Given the description of an element on the screen output the (x, y) to click on. 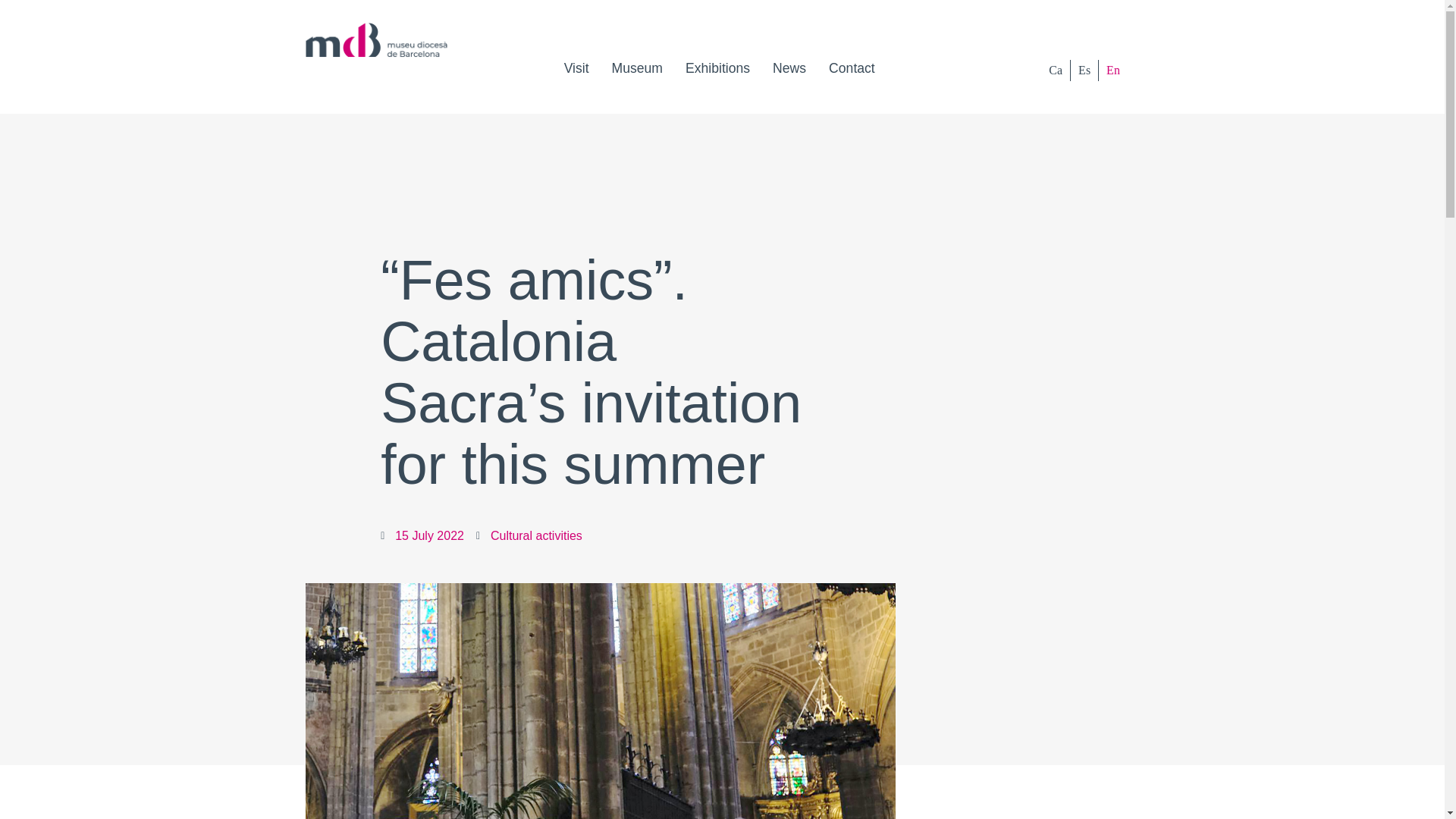
News (788, 67)
Contact (851, 67)
Es (1083, 70)
Ca (1055, 70)
Cultural activities (536, 535)
Museum (636, 67)
En (1112, 70)
Visit (576, 67)
Exhibitions (717, 67)
